Given the description of an element on the screen output the (x, y) to click on. 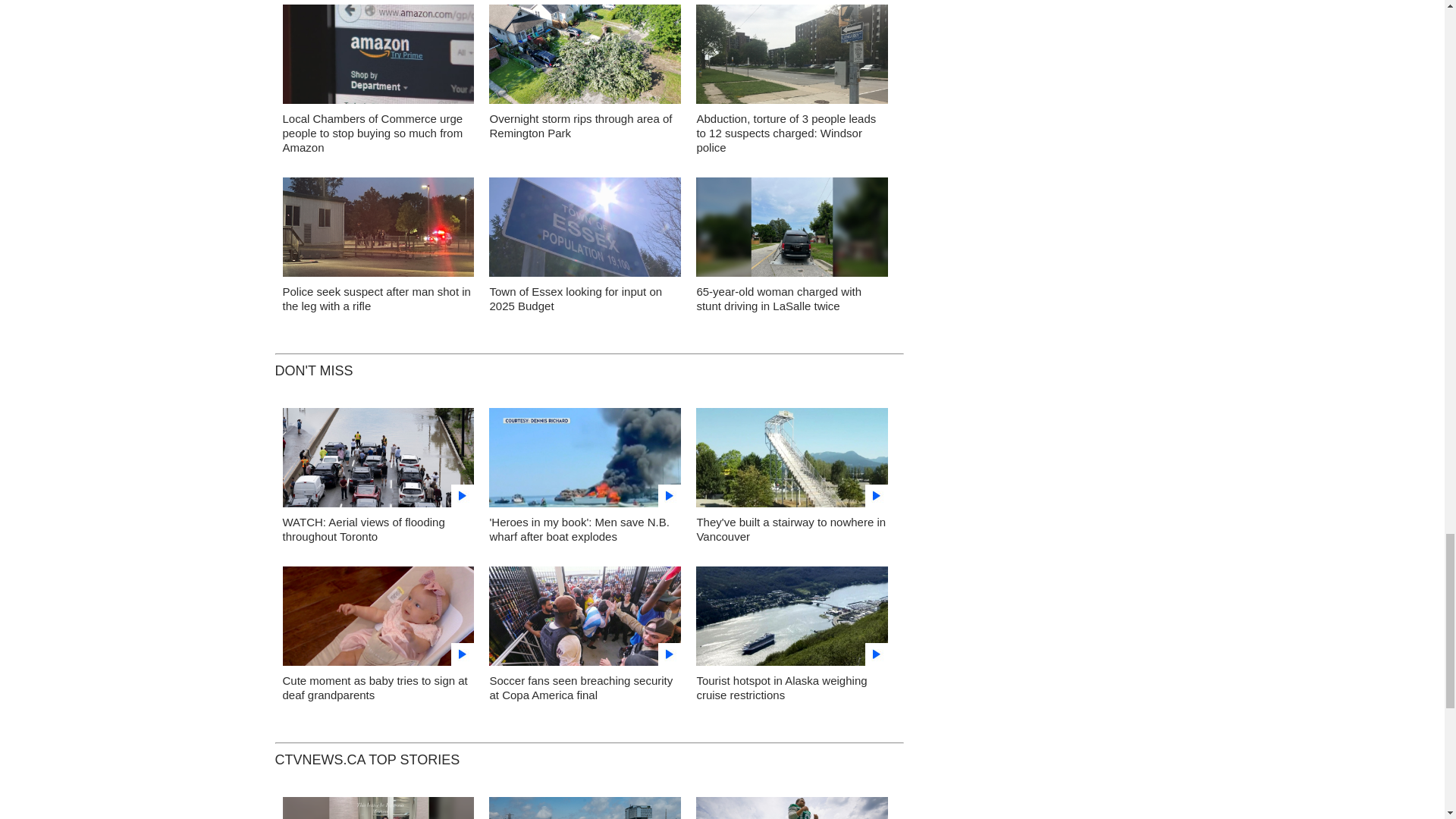
Amazon  (378, 58)
Glengarry (791, 58)
Town of Essex (585, 231)
Overnight storm rips through area of Remington Park (580, 125)
Campbell Ave shooting Windsor (378, 231)
